Given the description of an element on the screen output the (x, y) to click on. 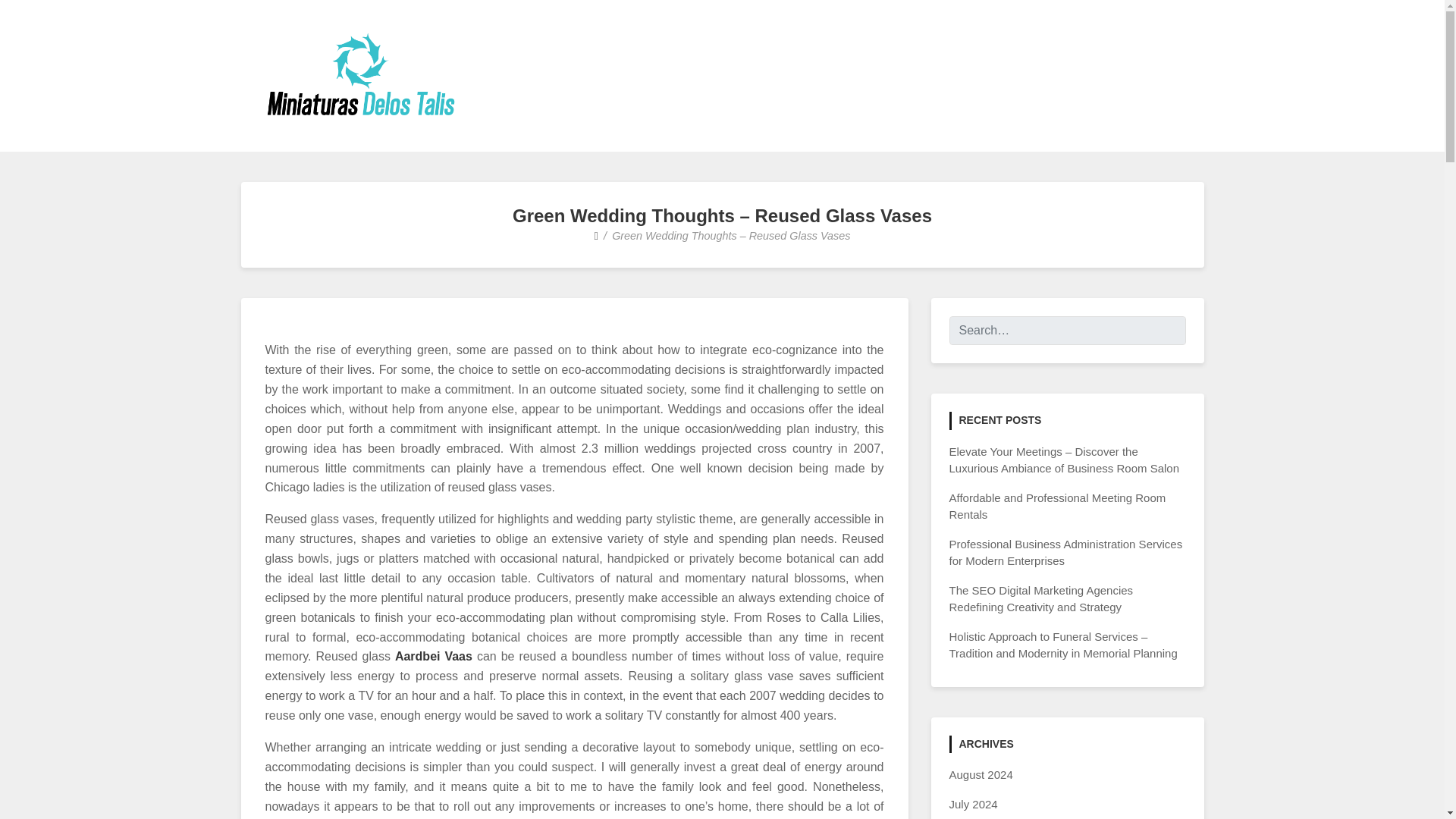
August 2024 (981, 774)
For General Discussion (419, 140)
July 2024 (973, 803)
Affordable and Professional Meeting Room Rentals (1057, 506)
Aardbei Vaas (432, 656)
